Given the description of an element on the screen output the (x, y) to click on. 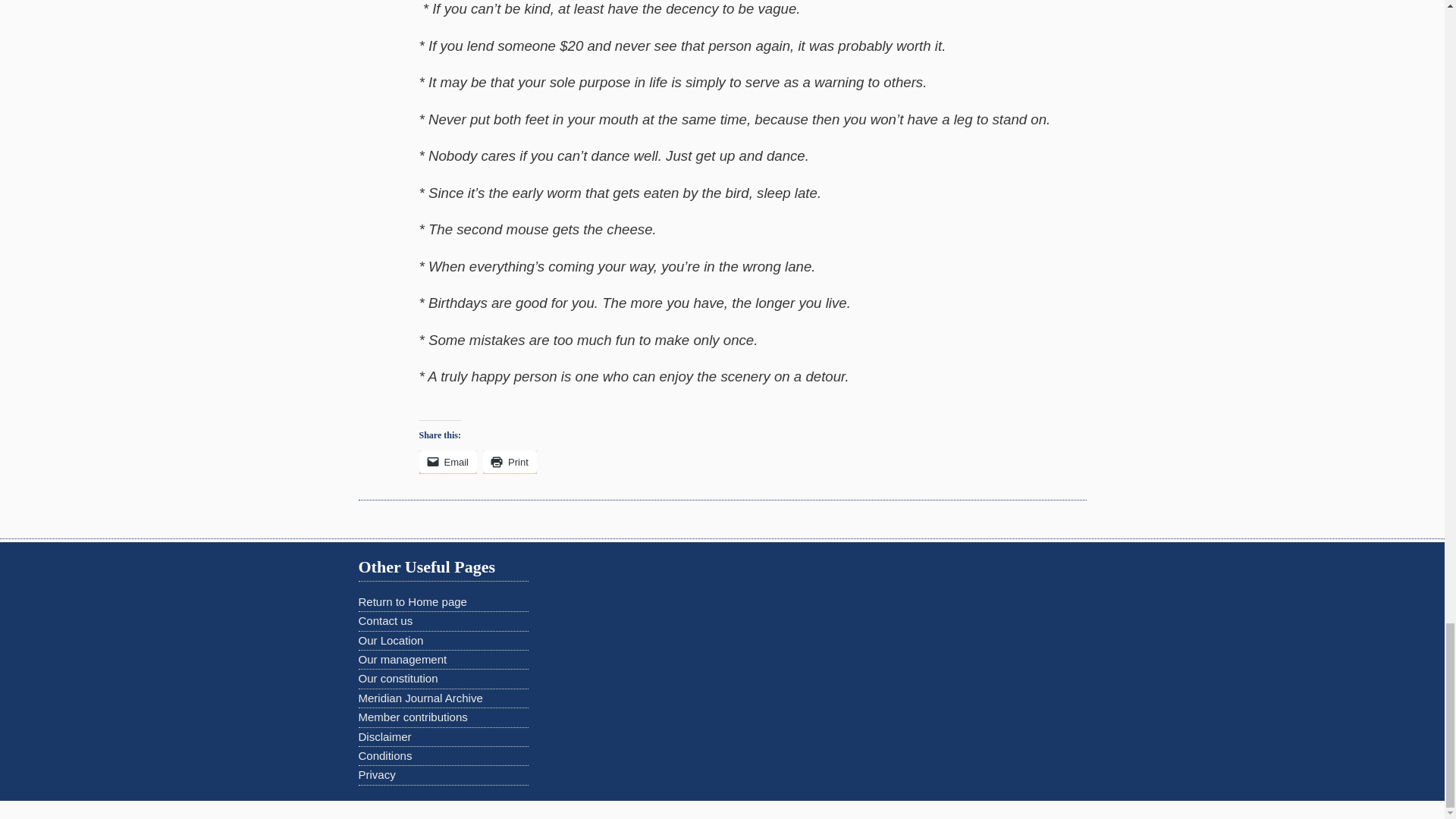
Return to Home page (411, 601)
Our constitution (398, 677)
Email (448, 461)
Meridian Journal Archive (419, 697)
Privacy (376, 774)
Disclaimer (384, 736)
Return to Home page (411, 601)
Contact us (385, 620)
Click to print (510, 461)
Click to email a link to a friend (448, 461)
Conditions (385, 755)
Member contributions (412, 716)
Our management (402, 658)
Our Location (390, 640)
Print (510, 461)
